Given the description of an element on the screen output the (x, y) to click on. 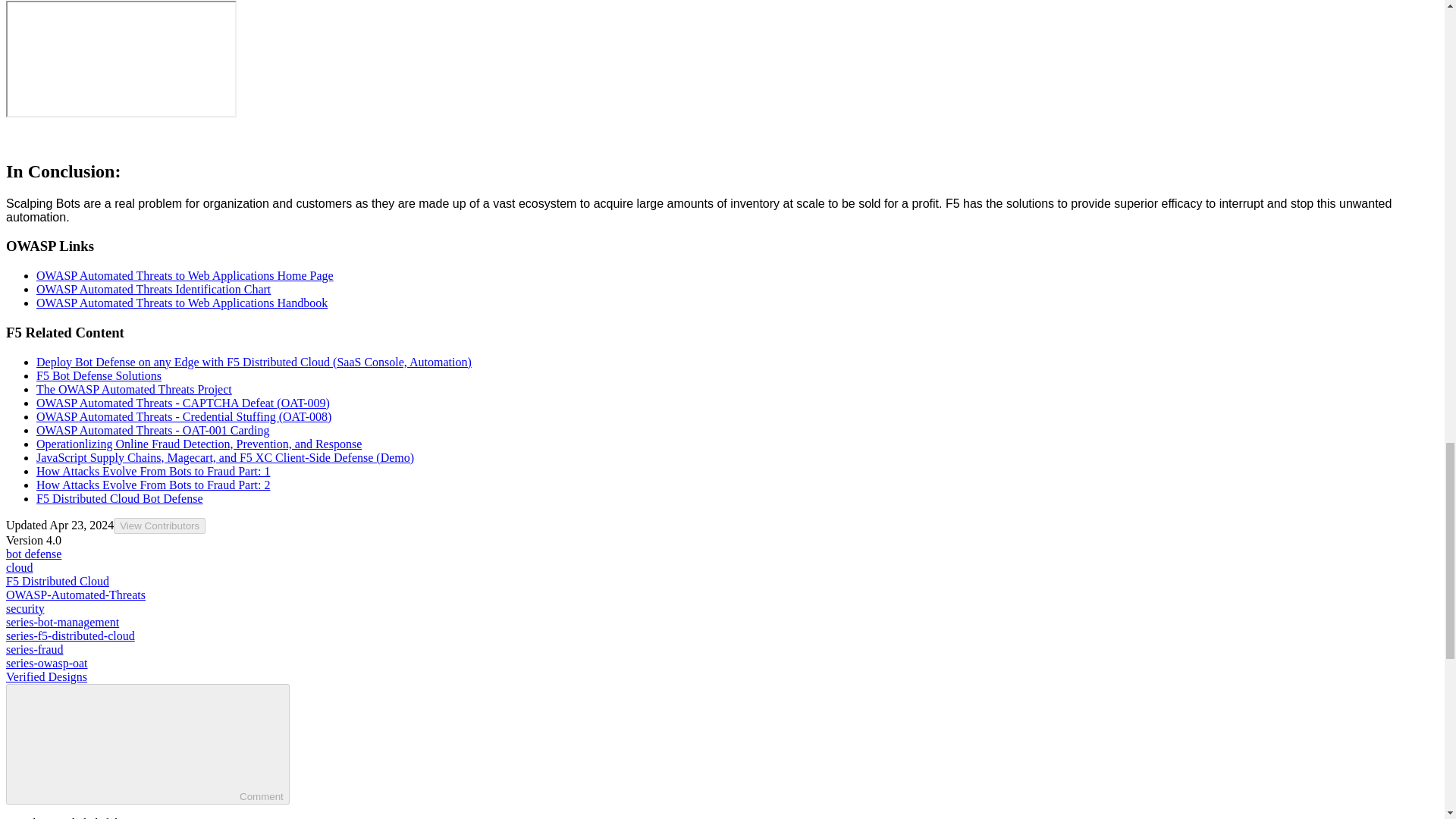
F5 Distributed Cloud (57, 581)
OWASP Automated Threats to Web Applications Home Page (184, 275)
F5 Bot Defense Solutions (98, 374)
bot defense (33, 553)
How Attacks Evolve From Bots to Fraud Part: 1 (152, 470)
OWASP-Automated-Threats (75, 594)
View Contributors (159, 524)
How Attacks Evolve From Bots to Fraud Part: 2 (152, 483)
OWASP Automated Threats to Web Applications Handbook (181, 302)
series-bot-management (62, 621)
The OWASP Automated Threats Project (133, 388)
OWASP Automated Threats Identification Chart (153, 288)
April 23, 2024 at 9:04 PM (81, 524)
security (25, 608)
